Given the description of an element on the screen output the (x, y) to click on. 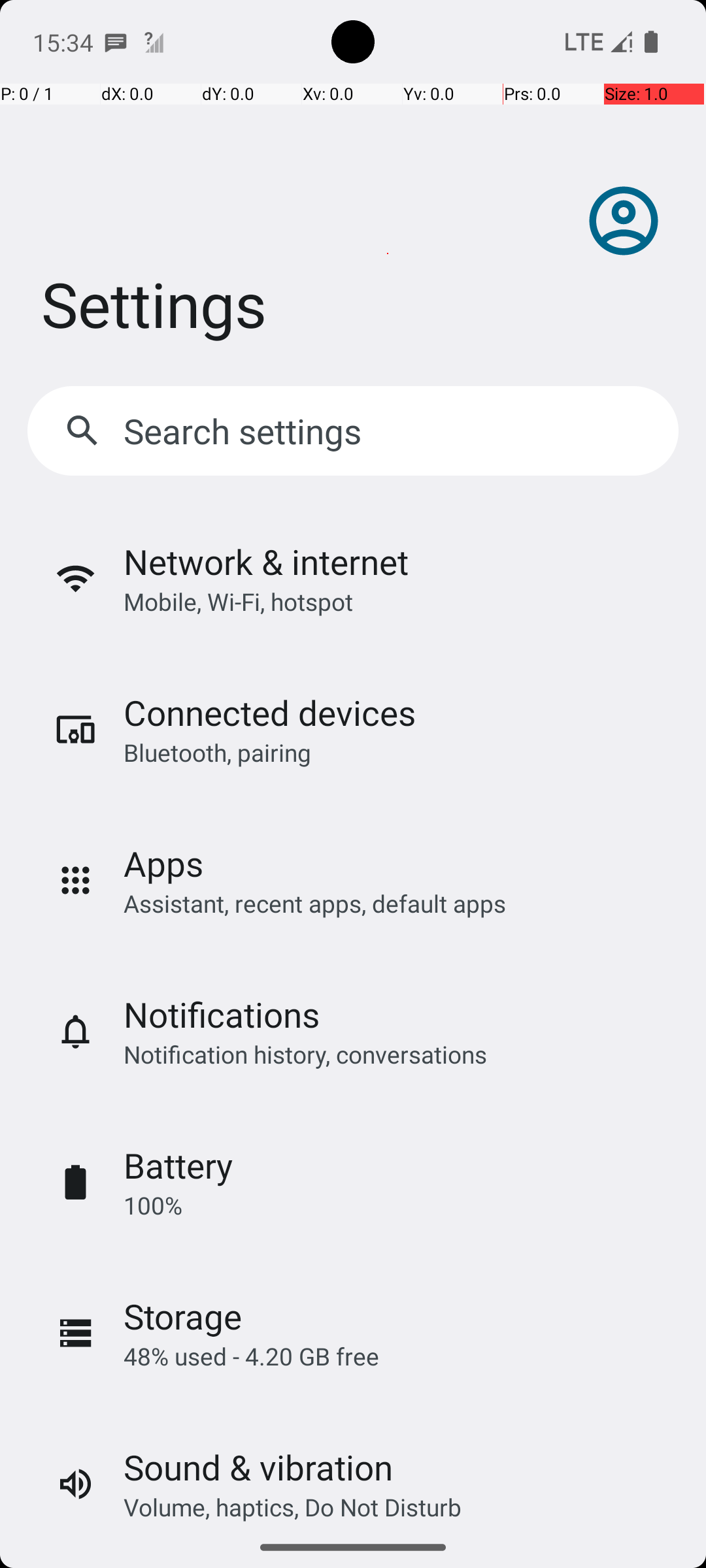
48% used - 4.20 GB free Element type: android.widget.TextView (251, 1355)
